Given the description of an element on the screen output the (x, y) to click on. 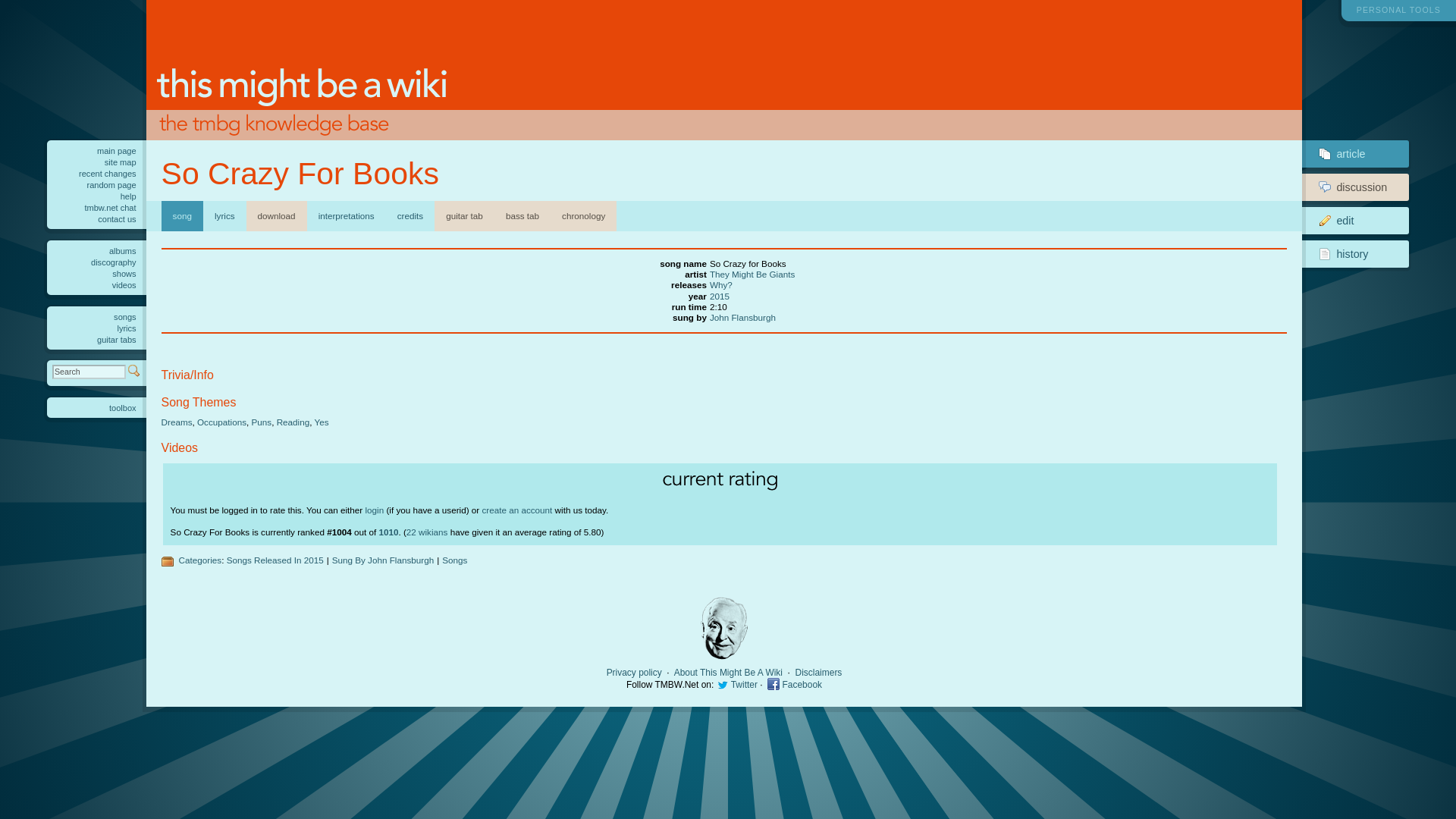
John Flansburgh (1348, 220)
Twitter (743, 317)
login (743, 684)
Disclaimers (374, 510)
Puns (818, 672)
create an account (260, 421)
Why? (516, 510)
22 wikians (721, 284)
Facebook (427, 531)
Yes (802, 684)
history (321, 421)
discussion (1348, 253)
Search (1348, 186)
